Given the description of an element on the screen output the (x, y) to click on. 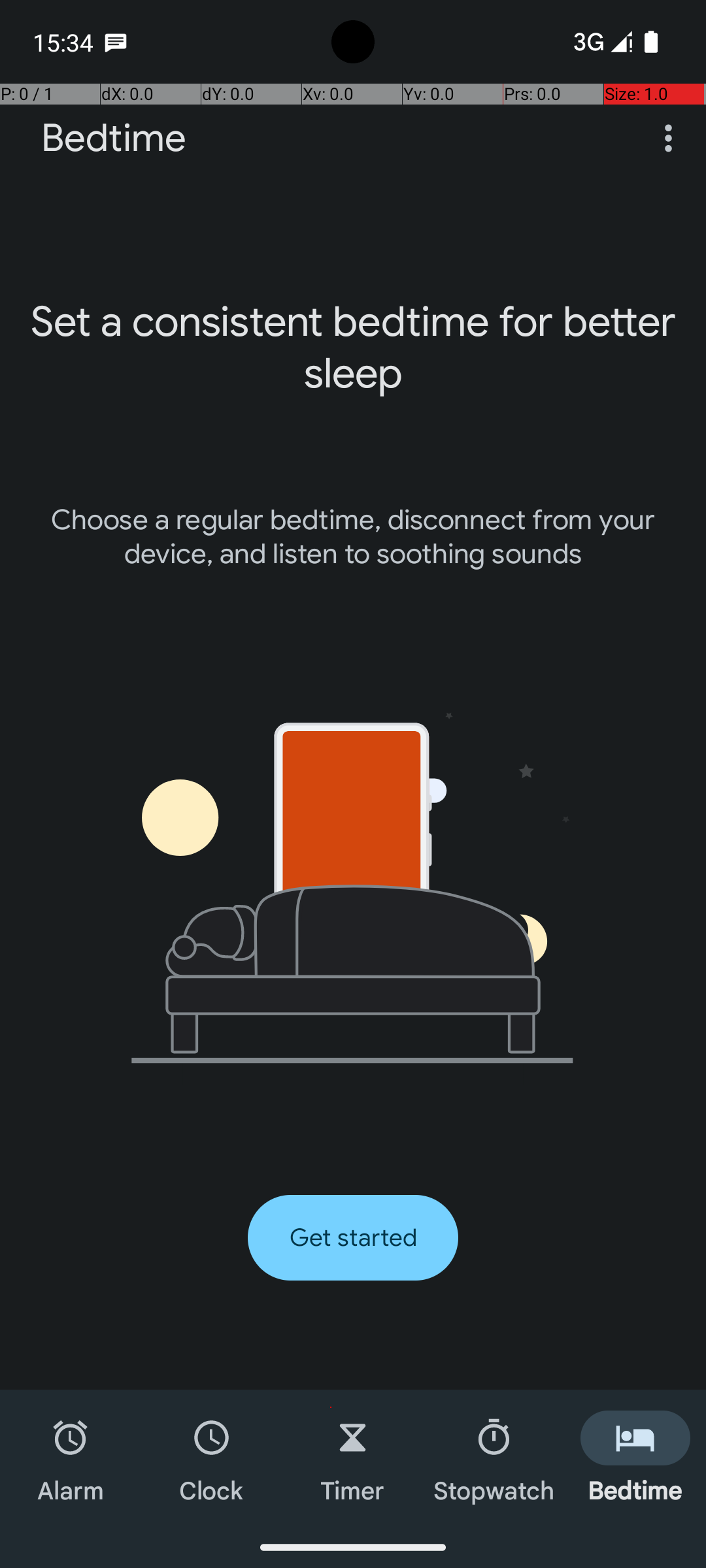
Set a consistent bedtime for better sleep Element type: android.widget.TextView (352, 347)
Choose a regular bedtime, disconnect from your device, and listen to soothing sounds Element type: android.widget.TextView (352, 536)
